Given the description of an element on the screen output the (x, y) to click on. 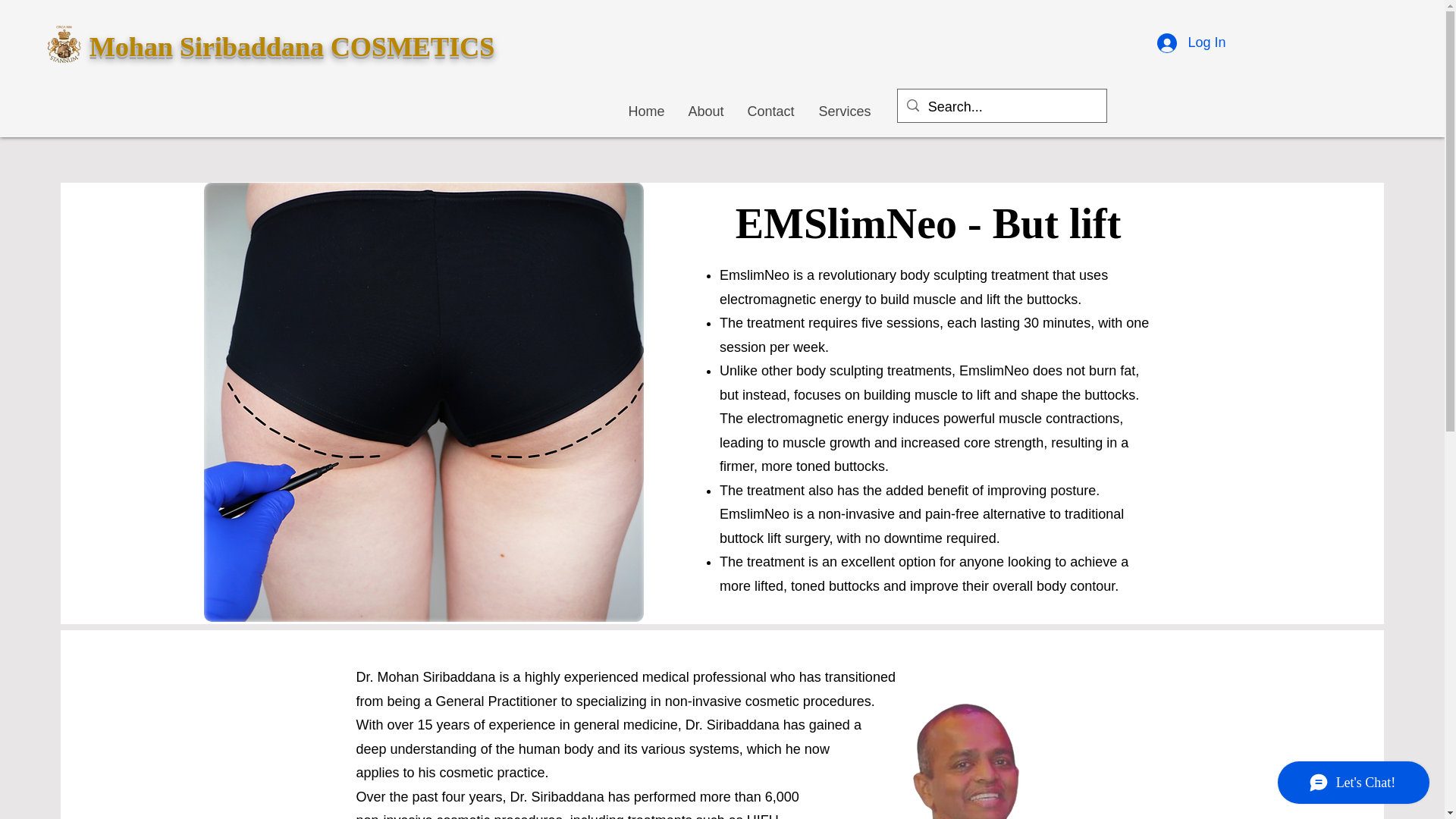
Logo45.png (63, 44)
Contact (770, 110)
Mohan Siribaddana COSMETICS (291, 46)
Services (844, 110)
About (706, 110)
Home (646, 110)
Log In (1191, 42)
